Given the description of an element on the screen output the (x, y) to click on. 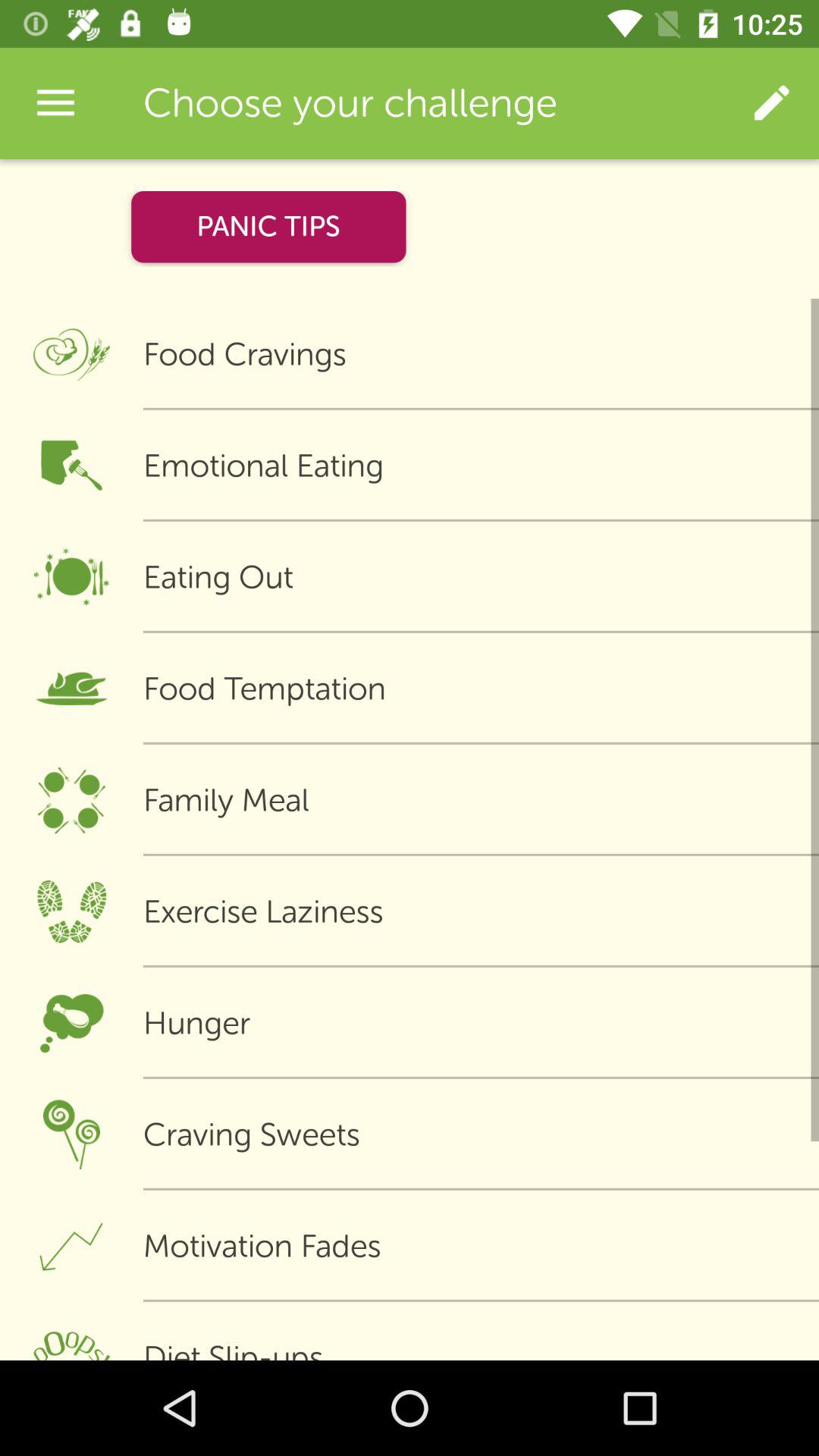
select the icon on left to the button craving sweets on the web page (71, 1134)
click on the image beside hunger (71, 1023)
